Given the description of an element on the screen output the (x, y) to click on. 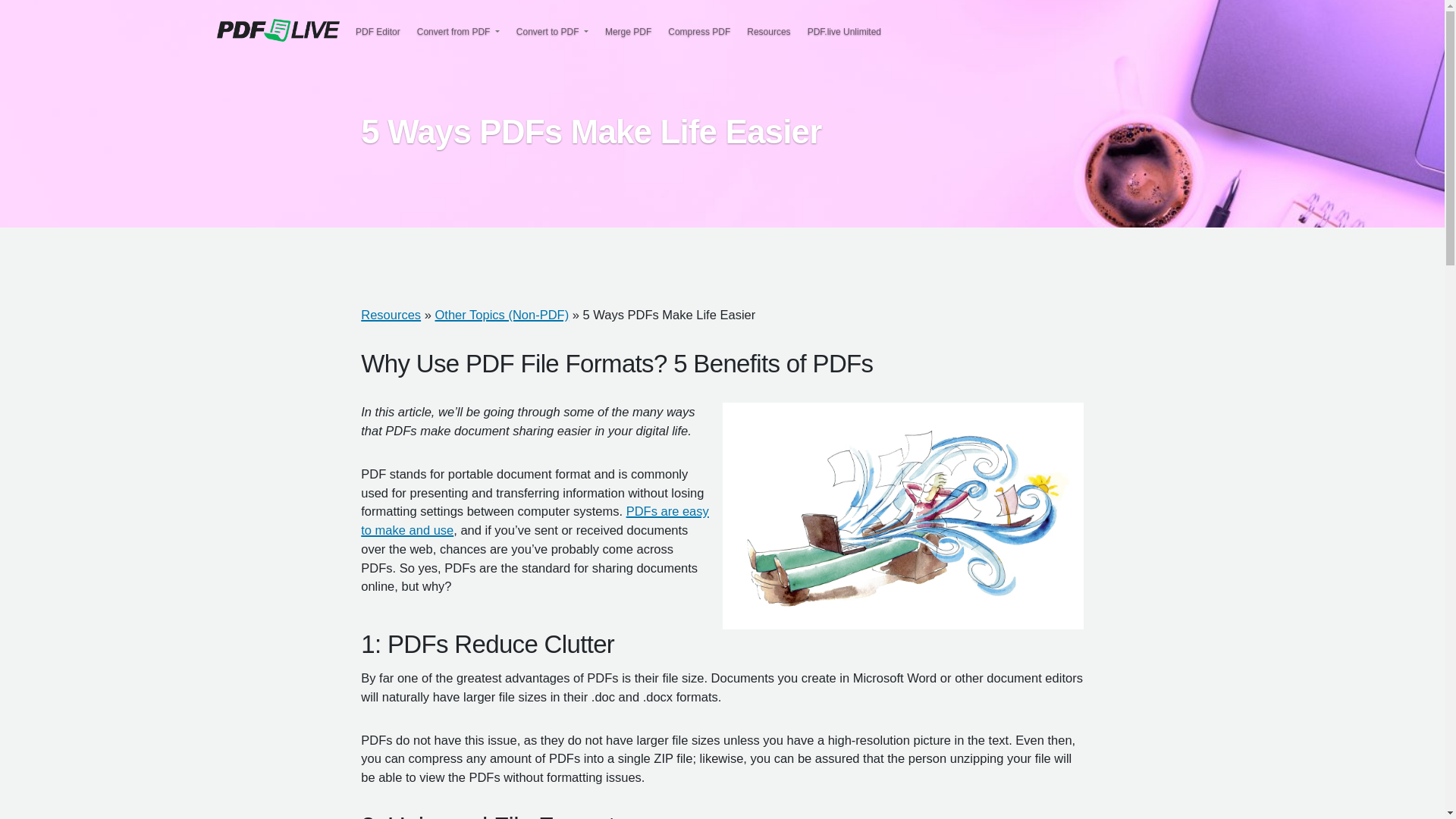
Resources (390, 314)
Compress PDF (698, 31)
PDF Editor (378, 31)
PDFs are easy to make and use (535, 520)
Convert from PDF (453, 31)
Resources (767, 31)
Merge PDF (627, 31)
Convert to PDF (547, 31)
PDF.live Unlimited (844, 31)
